Given the description of an element on the screen output the (x, y) to click on. 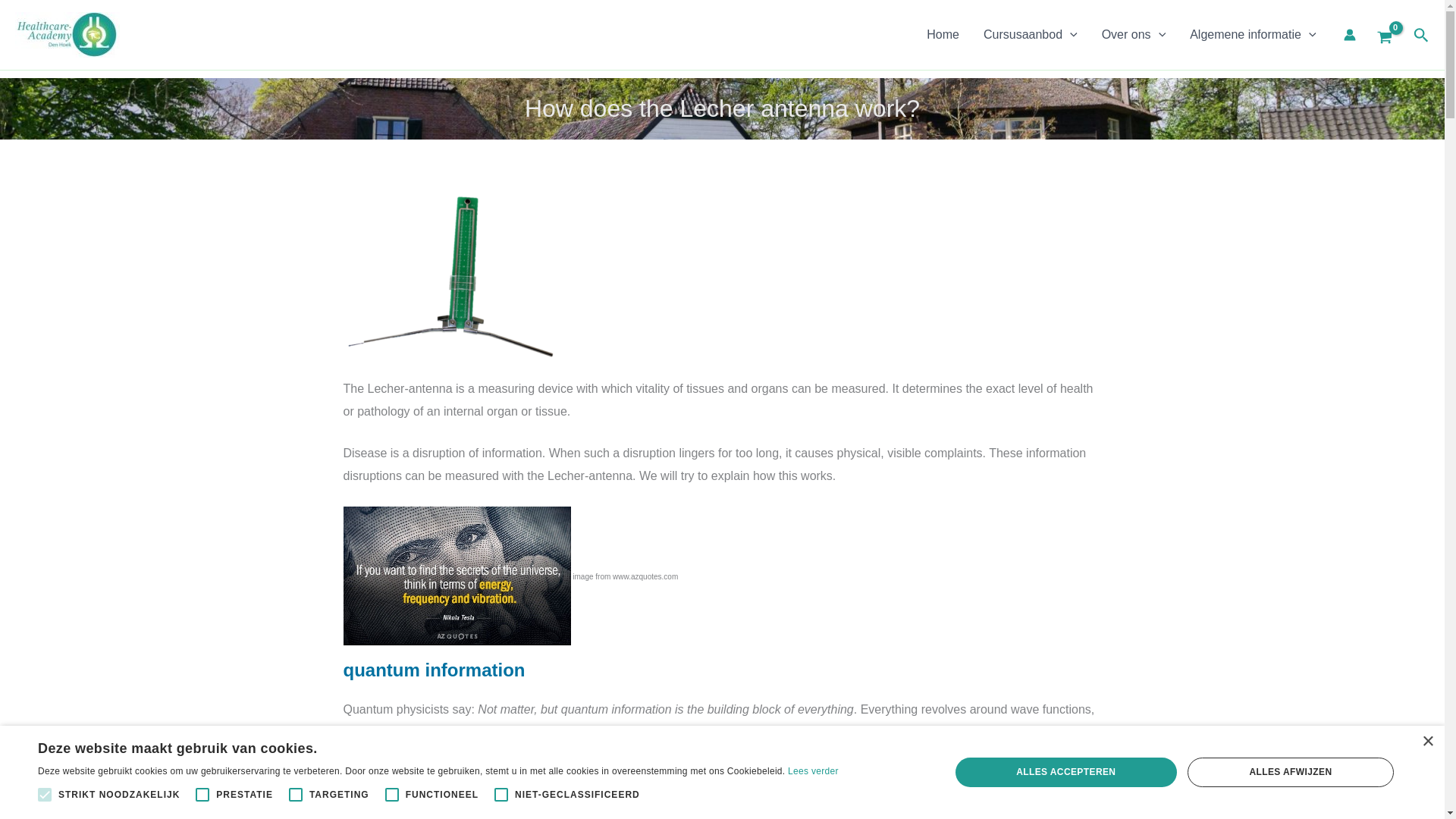
Home (942, 34)
Algemene informatie (1252, 34)
Over ons (1133, 34)
Cursusaanbod (1030, 34)
